Given the description of an element on the screen output the (x, y) to click on. 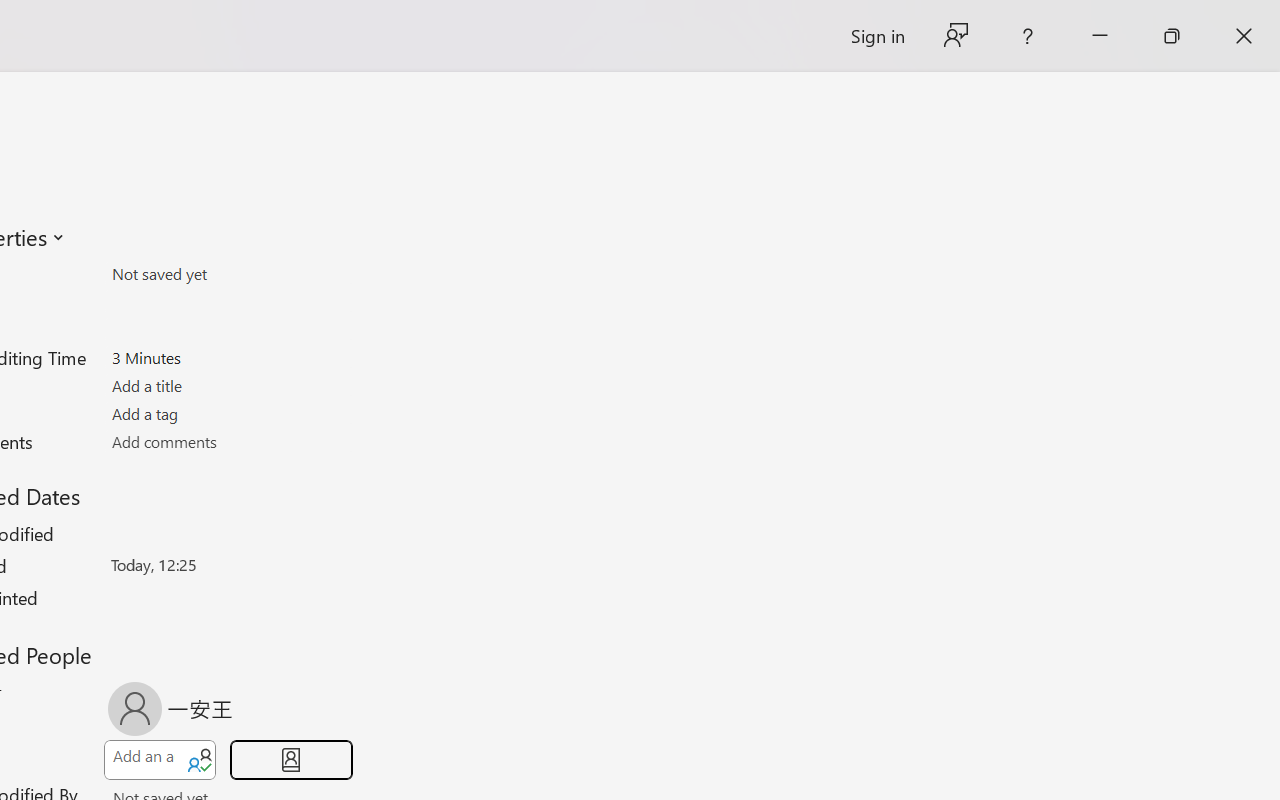
Pages (228, 301)
Browse Address Book (291, 760)
Total Editing Time (228, 357)
Add an author (142, 759)
Tags (228, 413)
Size (228, 274)
Verify Names (197, 759)
Words (228, 330)
